Given the description of an element on the screen output the (x, y) to click on. 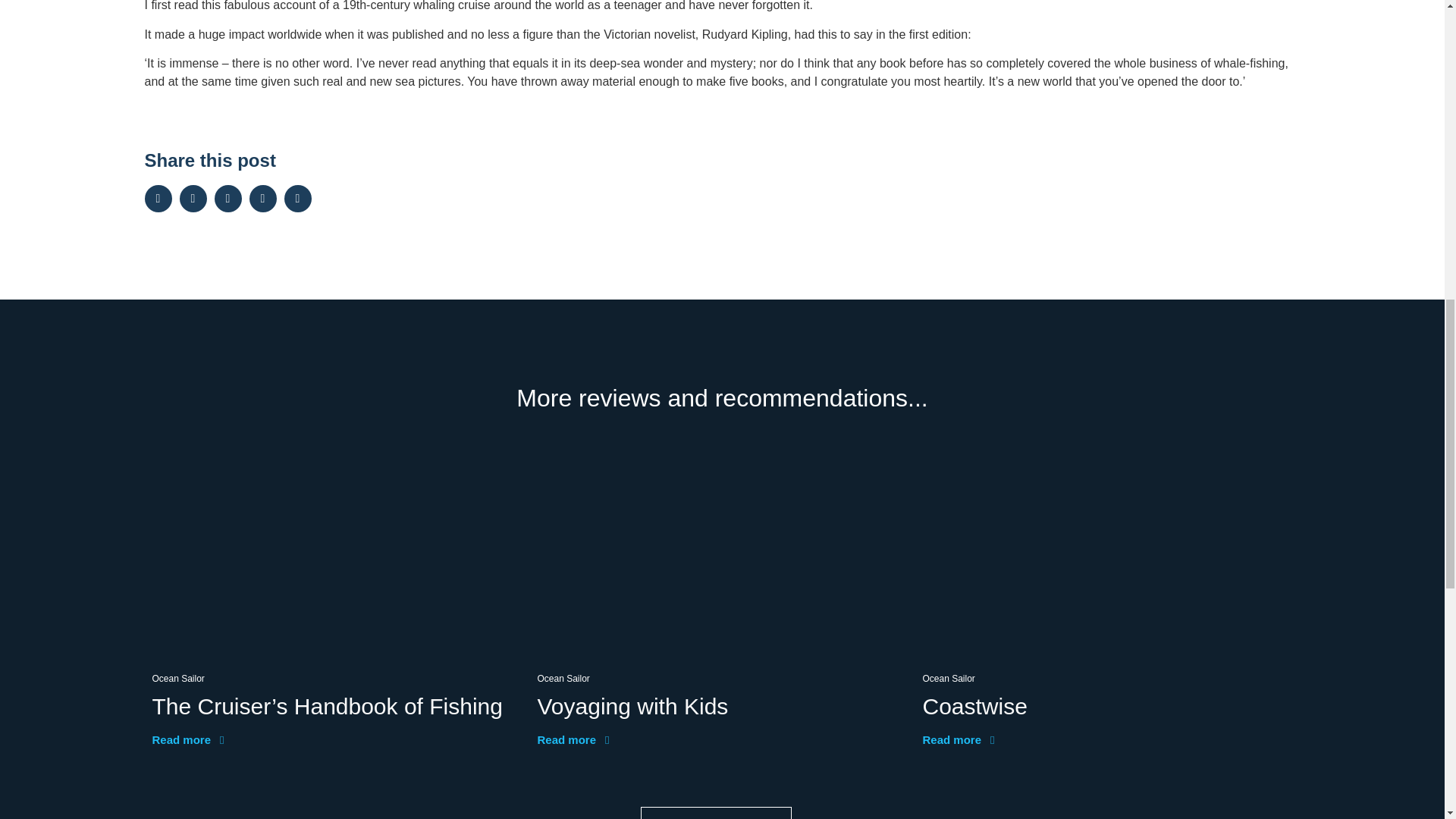
Read more (187, 739)
Read more (957, 739)
Voyaging with Kids (632, 706)
Coastwise (973, 706)
Browse all (716, 812)
Read more (572, 739)
